Given the description of an element on the screen output the (x, y) to click on. 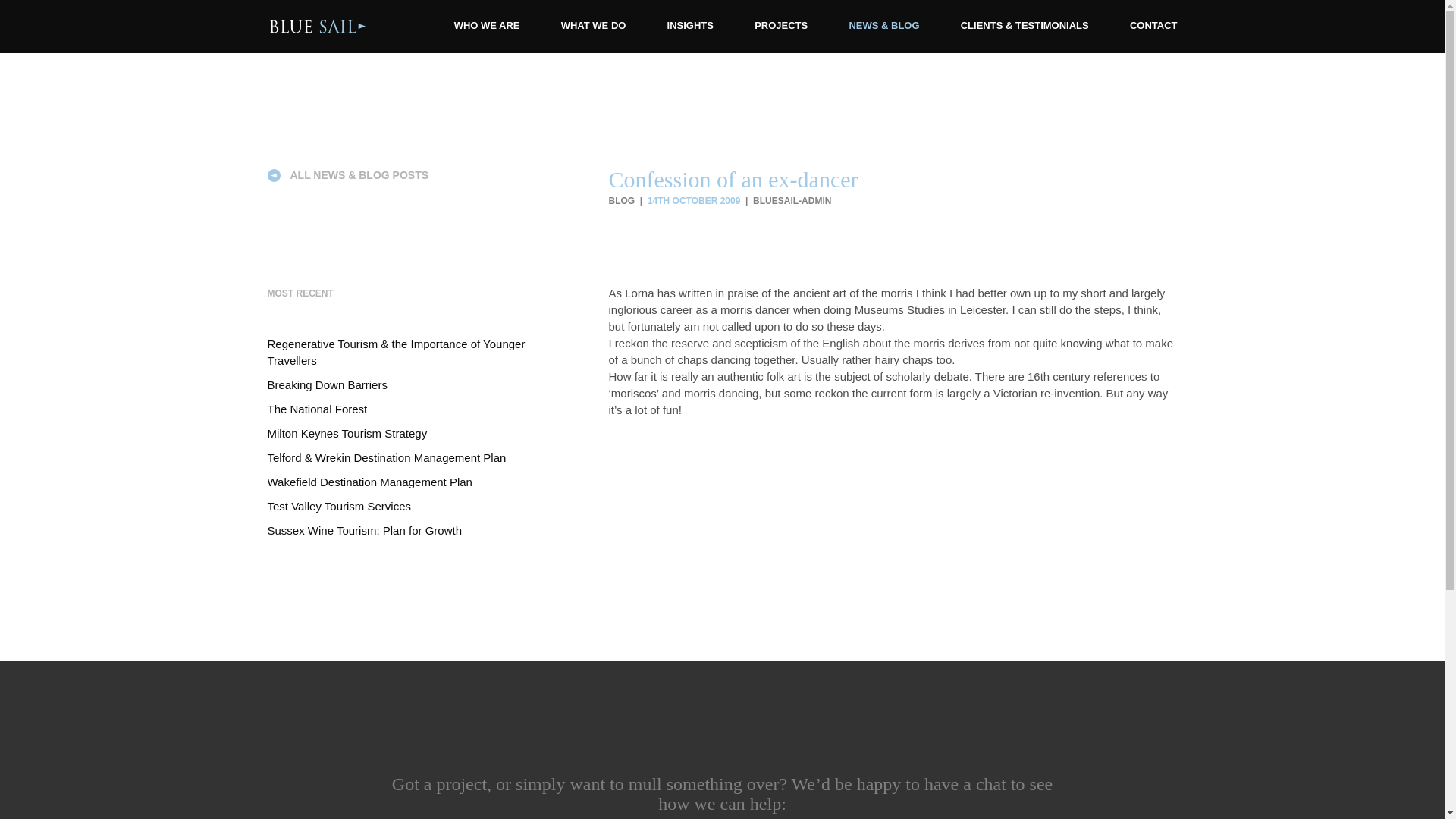
WHAT WE DO (593, 25)
CONTACT (1153, 25)
INSIGHTS (689, 25)
The National Forest (316, 408)
Sussex Wine Tourism: Plan for Growth (363, 530)
WHO WE ARE (486, 25)
Breaking Down Barriers (326, 384)
Milton Keynes Tourism Strategy (346, 432)
Wakefield Destination Management Plan (368, 481)
Test Valley Tourism Services (338, 505)
PROJECTS (781, 25)
